Given the description of an element on the screen output the (x, y) to click on. 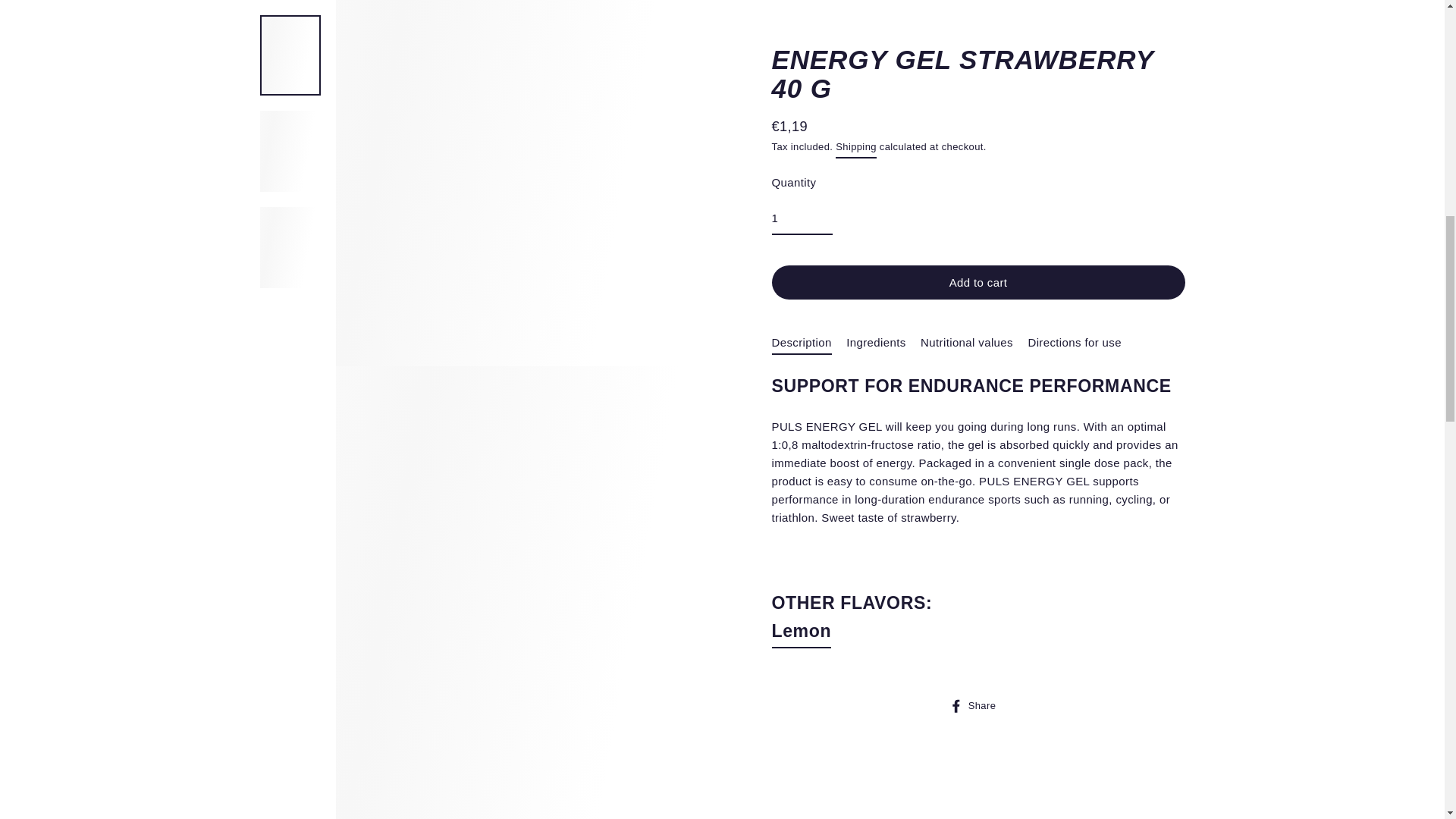
MENU (162, 46)
Share on Facebook (978, 82)
